Given the description of an element on the screen output the (x, y) to click on. 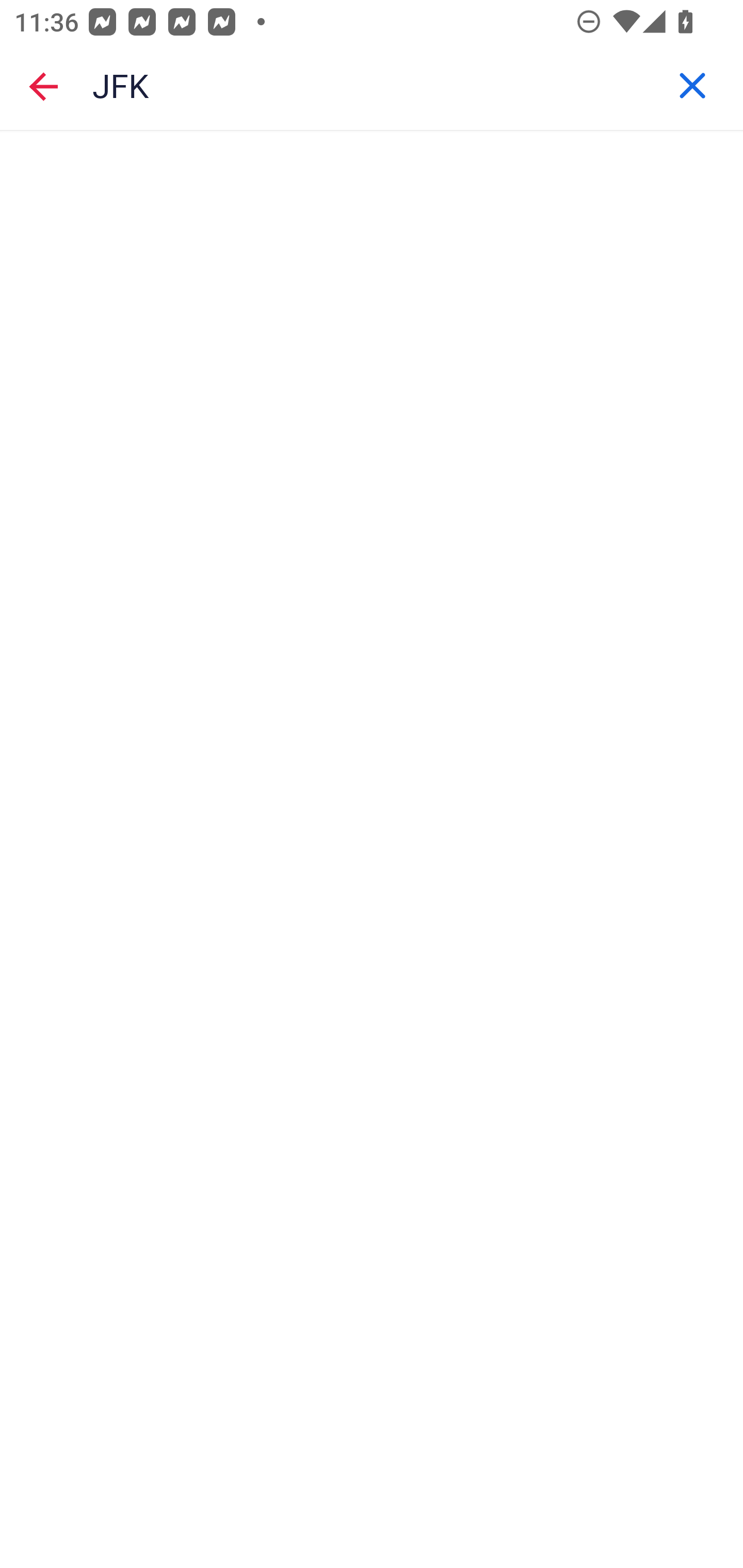
Clear Pick-up (692, 85)
Pick-up, JFK (371, 85)
Close search screen (43, 86)
